Given the description of an element on the screen output the (x, y) to click on. 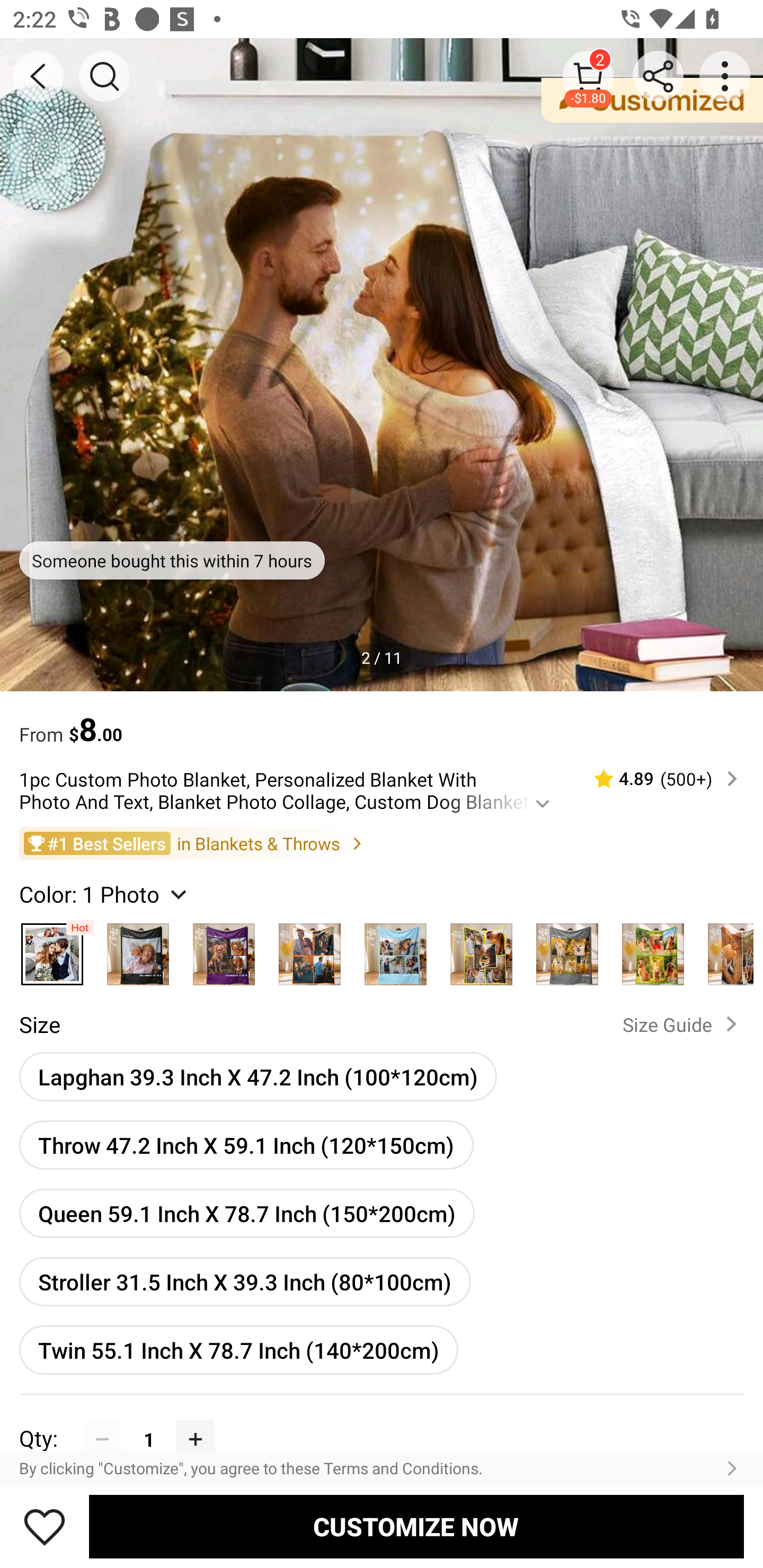
PHOTOS Someone bought this within 7 hours 2 / 11 (381, 364)
BACK (38, 75)
2 -$1.80 (588, 75)
2 / 11 (381, 656)
From  $8.00 (381, 720)
4.89 (500‎+) (658, 778)
#1 Best Sellers in Blankets & Throws (381, 842)
Color: 1 Photo (105, 893)
1 Photo (52, 949)
1 Photo + Text (138, 949)
3 Photos + Text (224, 949)
4 Photos (309, 949)
4 Photos + Text (395, 949)
5 Photos (481, 949)
5 Photos + Text (567, 949)
6 Photos (652, 949)
6 Photos - 2 (724, 949)
Size (39, 1024)
Size Guide (682, 1023)
Qty: 1 (381, 1419)
CUSTOMIZE NOW (416, 1526)
Save (44, 1526)
